Given the description of an element on the screen output the (x, y) to click on. 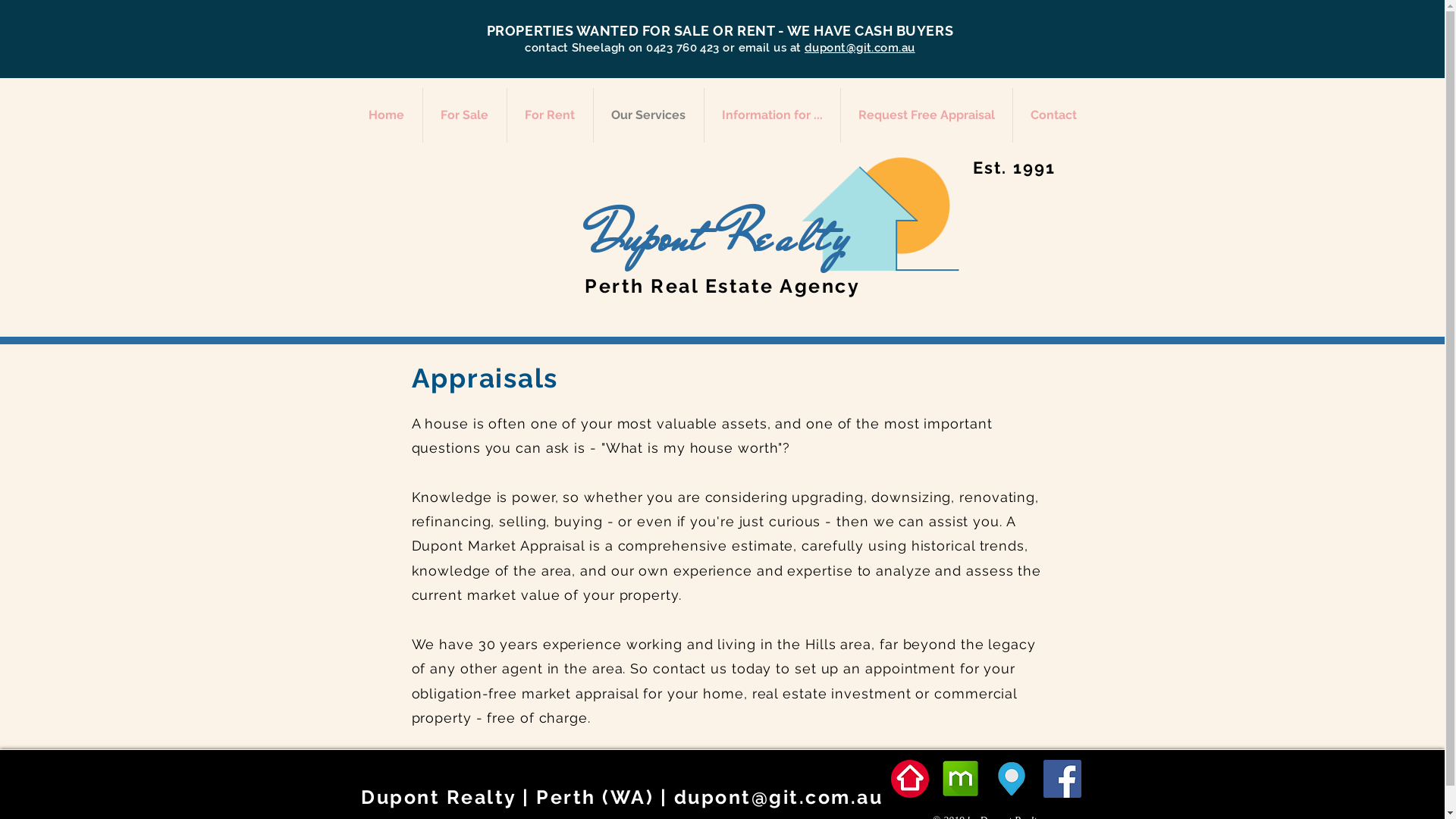
Our Services Element type: text (647, 114)
Dupont Realty | Perth (WA) | dupont@git.com.au Element type: text (621, 796)
Request Free Appraisal Element type: text (925, 114)
Perth Real Estate Agency Element type: text (721, 285)
Dupont  R Element type: text (673, 236)
Contact Element type: text (1053, 114)
For Rent Element type: text (549, 114)
For Sale Element type: text (464, 114)
ealty Element type: text (804, 236)
Home Element type: text (385, 114)
Est. Element type: text (989, 167)
dupont@git.com.au Element type: text (859, 47)
